Given the description of an element on the screen output the (x, y) to click on. 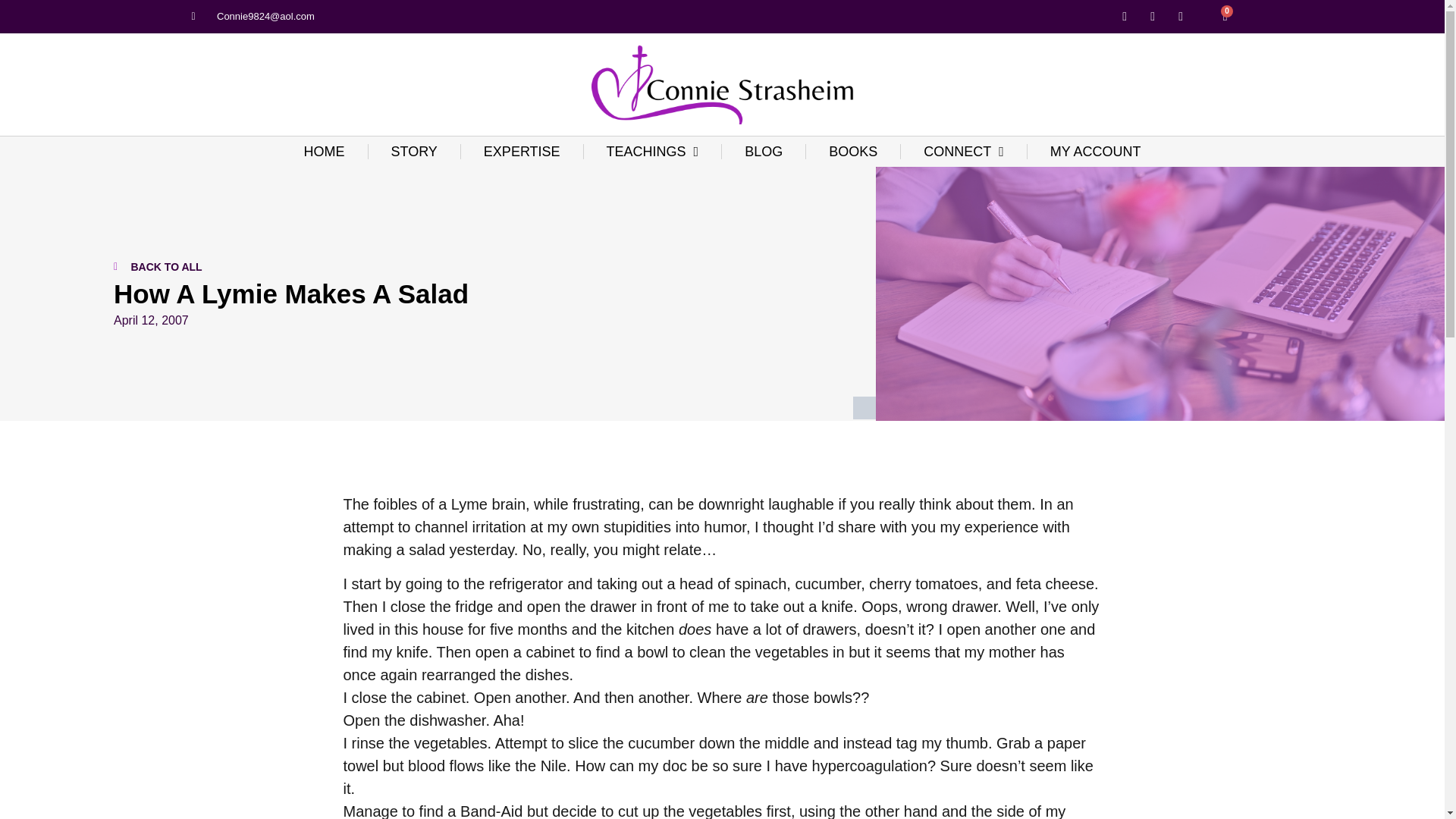
HOME (323, 151)
BACK TO ALL (475, 267)
MY ACCOUNT (1095, 151)
BLOG (763, 151)
TEACHINGS (652, 151)
BOOKS (852, 151)
CONNECT (963, 151)
STORY (414, 151)
EXPERTISE (522, 151)
0 (1225, 16)
